Given the description of an element on the screen output the (x, y) to click on. 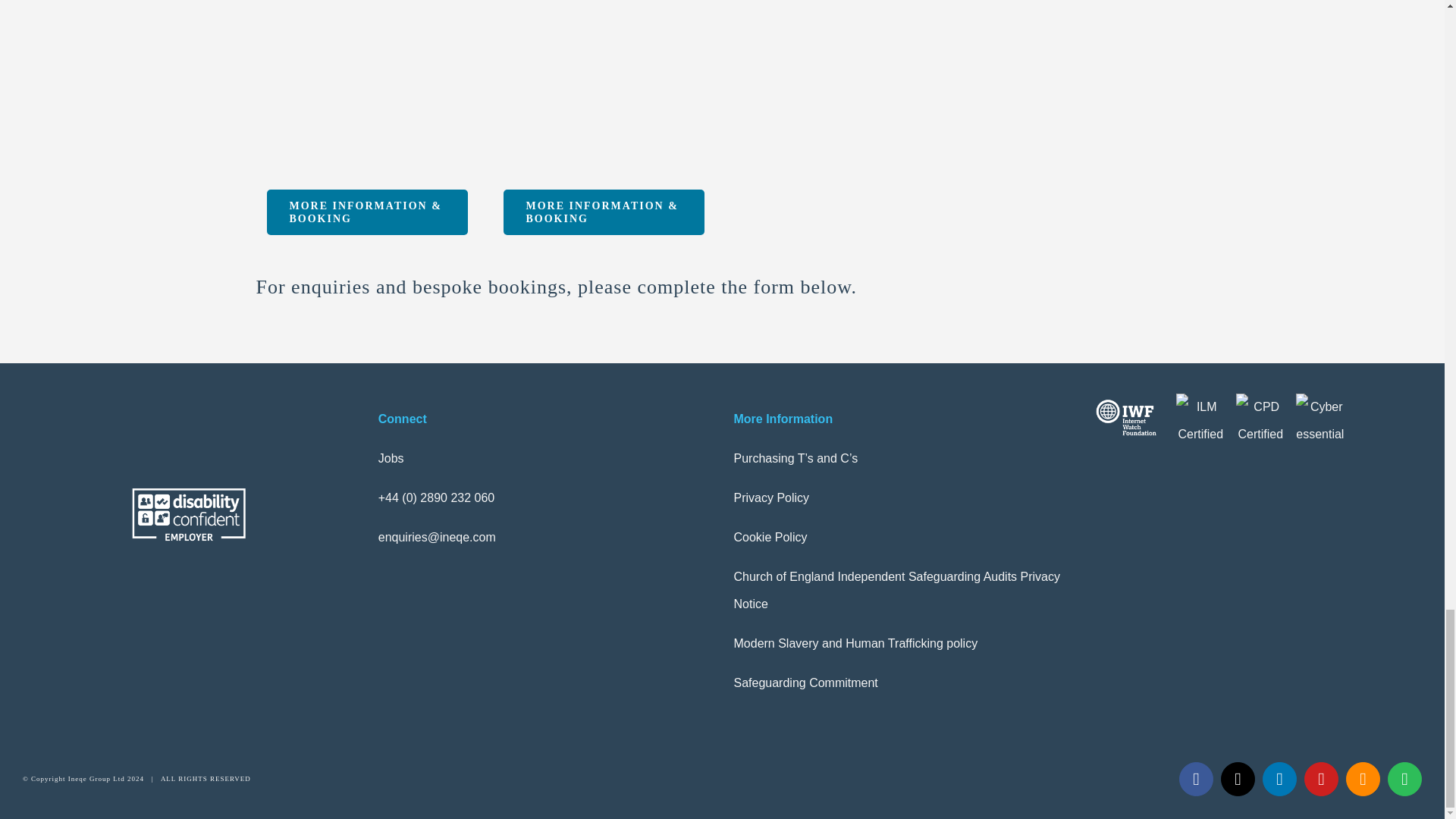
YouTube (1321, 779)
LinkedIn (1279, 779)
Spotify (1404, 779)
SoundCloud (1362, 779)
Facebook (1195, 779)
X (1238, 779)
